Given the description of an element on the screen output the (x, y) to click on. 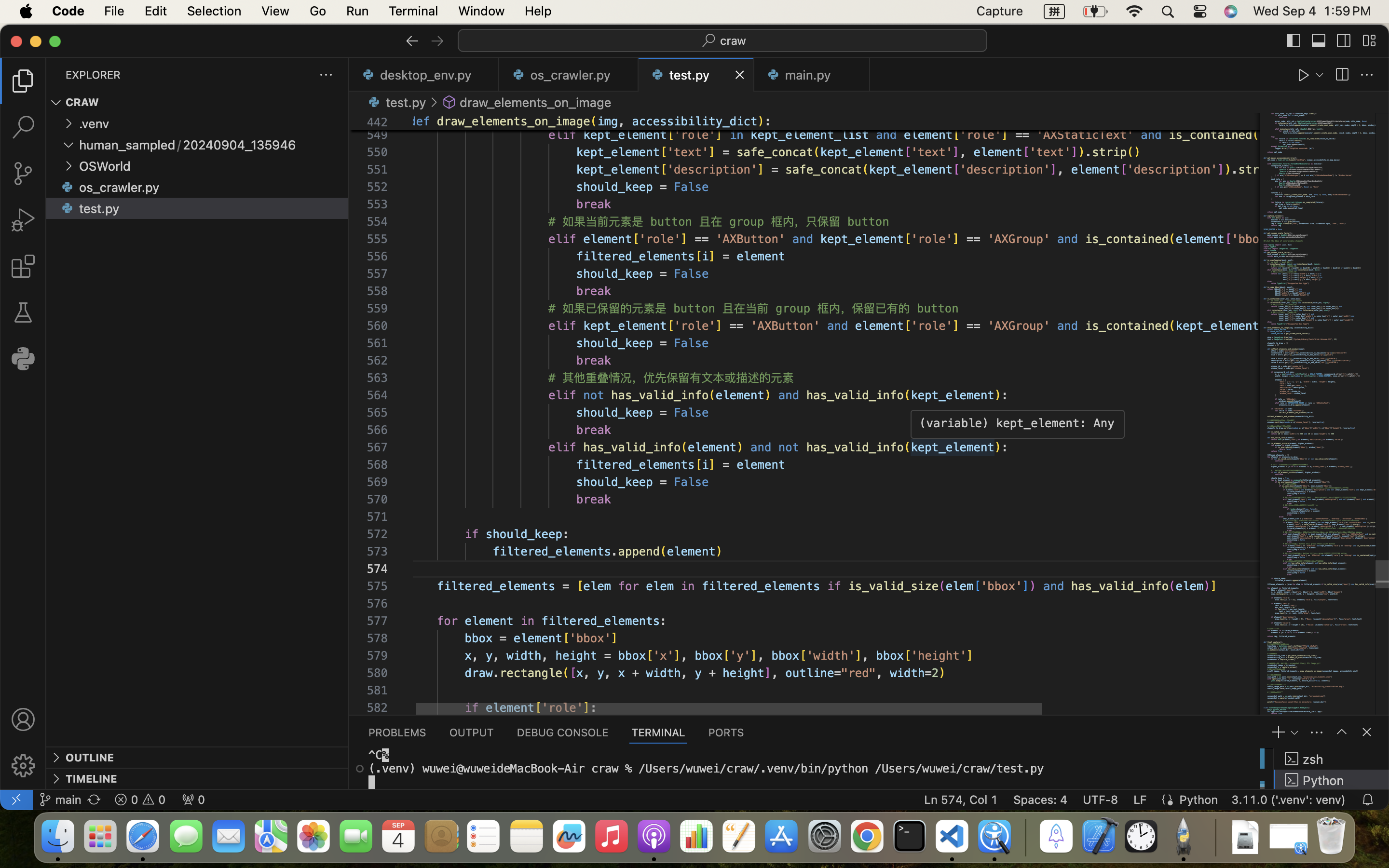
0 Element type: AXRadioButton (23, 358)
0 os_crawler.py   Element type: AXRadioButton (568, 74)
EXPLORER Element type: AXStaticText (92, 74)
 Element type: AXStaticText (55, 757)
 Element type: AXCheckBox (1293, 40)
